Given the description of an element on the screen output the (x, y) to click on. 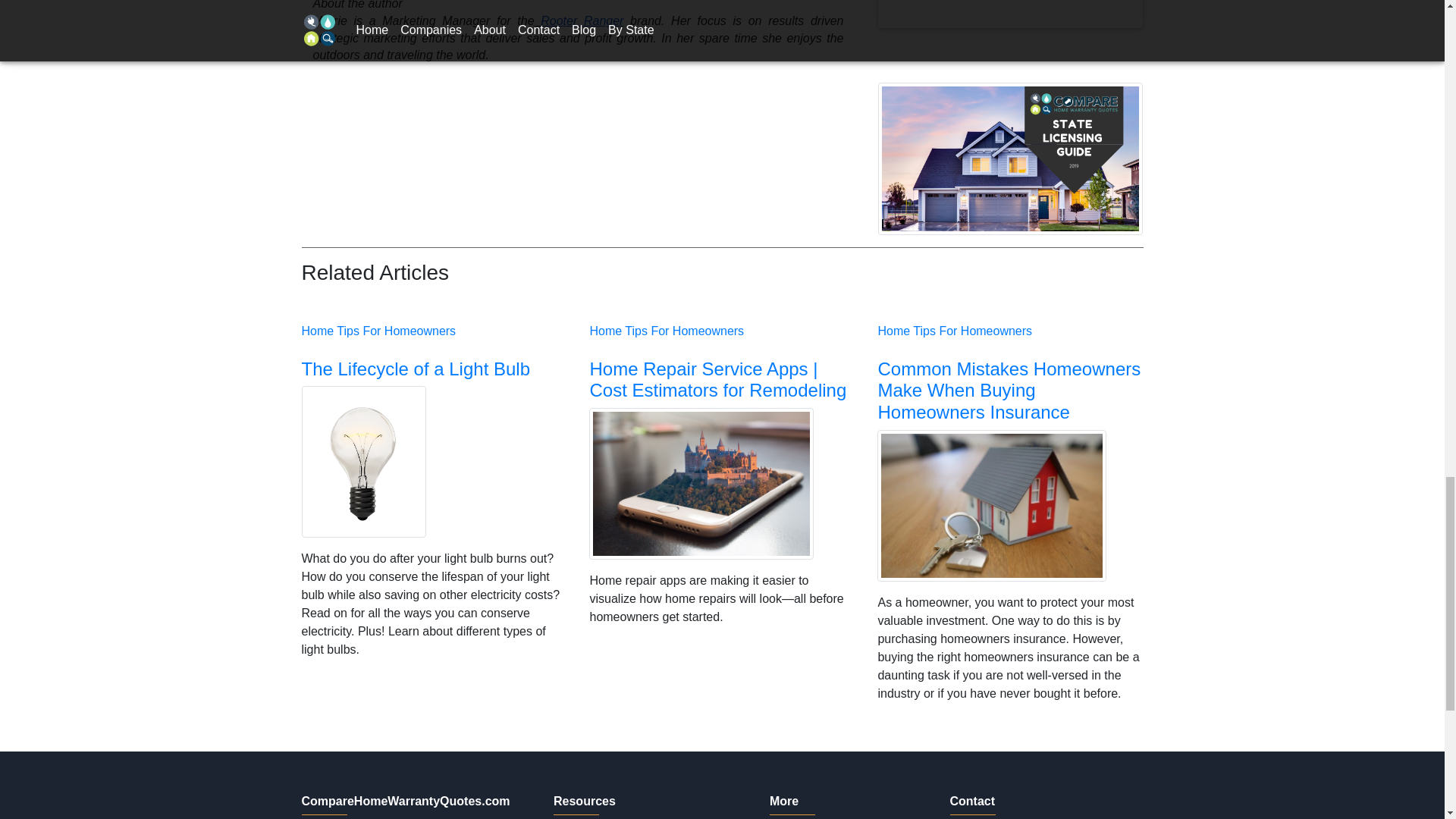
The Lifecycle of a Light Bulb (613, 806)
Home Tips For Homeowners (416, 368)
Homeowner's Guide (379, 330)
Home Tips For Homeowners (1009, 157)
Rooter Ranger (954, 330)
Home Tips For Homeowners (581, 20)
